Given the description of an element on the screen output the (x, y) to click on. 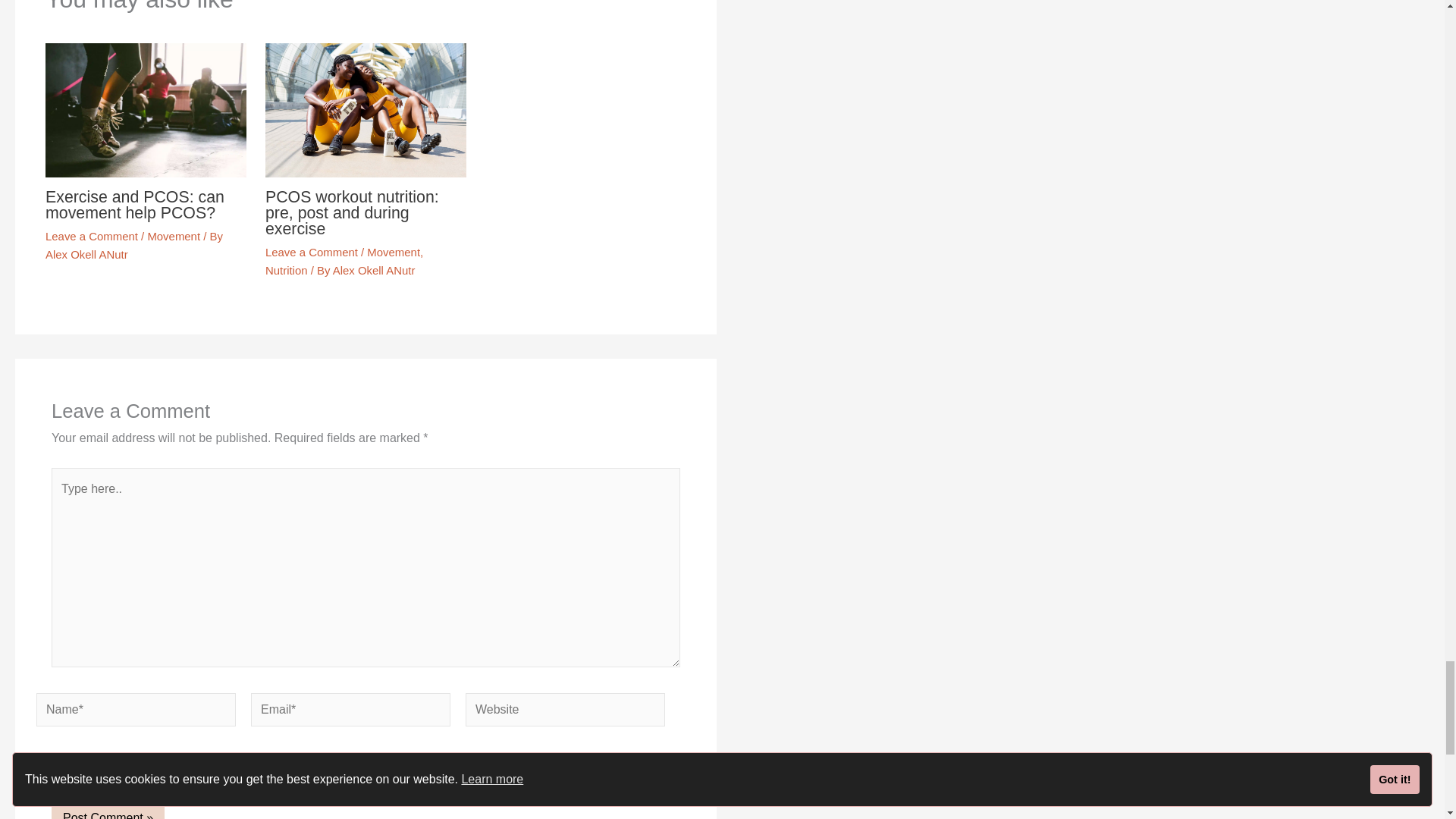
View all posts by Alex Okell ANutr (373, 269)
yes (55, 765)
View all posts by Alex Okell ANutr (86, 254)
